Given the description of an element on the screen output the (x, y) to click on. 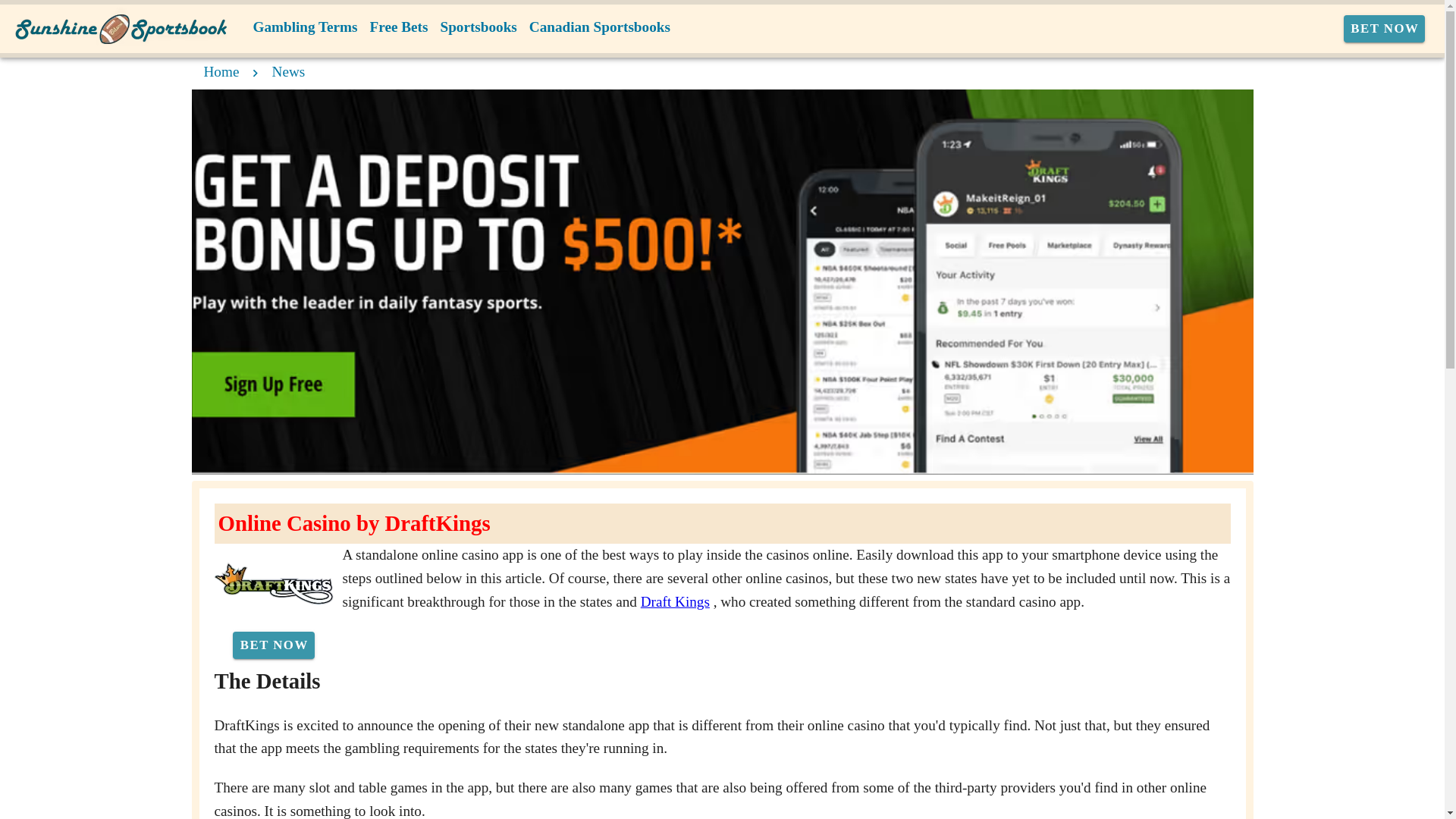
Home (220, 71)
BET NOW (1384, 28)
Free Bets (398, 27)
Gambling Terms (305, 27)
News (288, 71)
Sportsbooks (477, 27)
BET NOW (273, 645)
Canadian Sportsbooks (599, 27)
Draft Kings (675, 601)
